Given the description of an element on the screen output the (x, y) to click on. 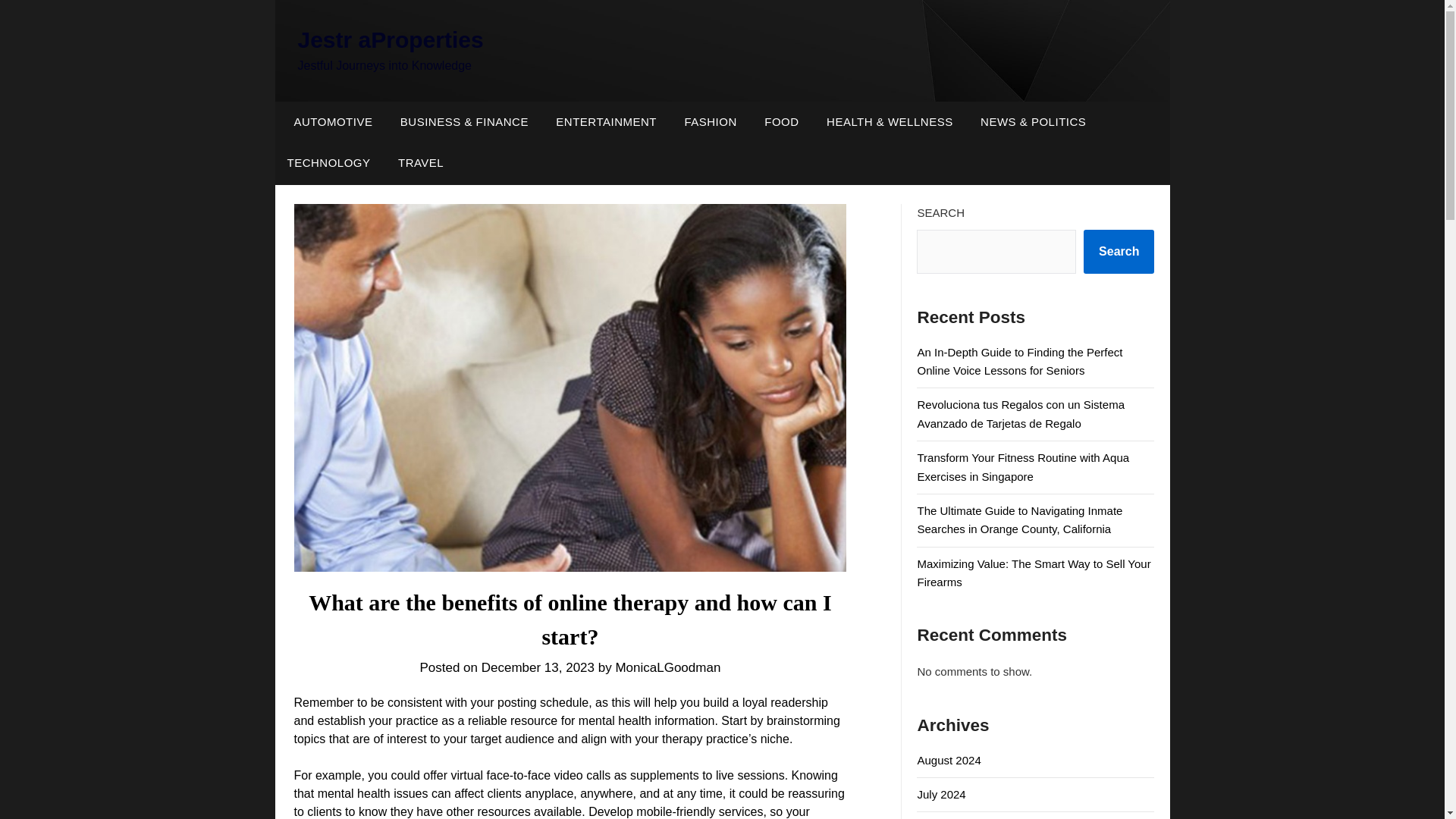
FASHION (709, 121)
Search (1118, 251)
FOOD (781, 121)
AUTOMOTIVE (329, 121)
Jestr aProperties (390, 39)
August 2024 (948, 759)
Maximizing Value: The Smart Way to Sell Your Firearms (1033, 572)
July 2024 (941, 793)
TRAVEL (420, 162)
ENTERTAINMENT (605, 121)
TECHNOLOGY (328, 162)
December 13, 2023 (537, 667)
